Given the description of an element on the screen output the (x, y) to click on. 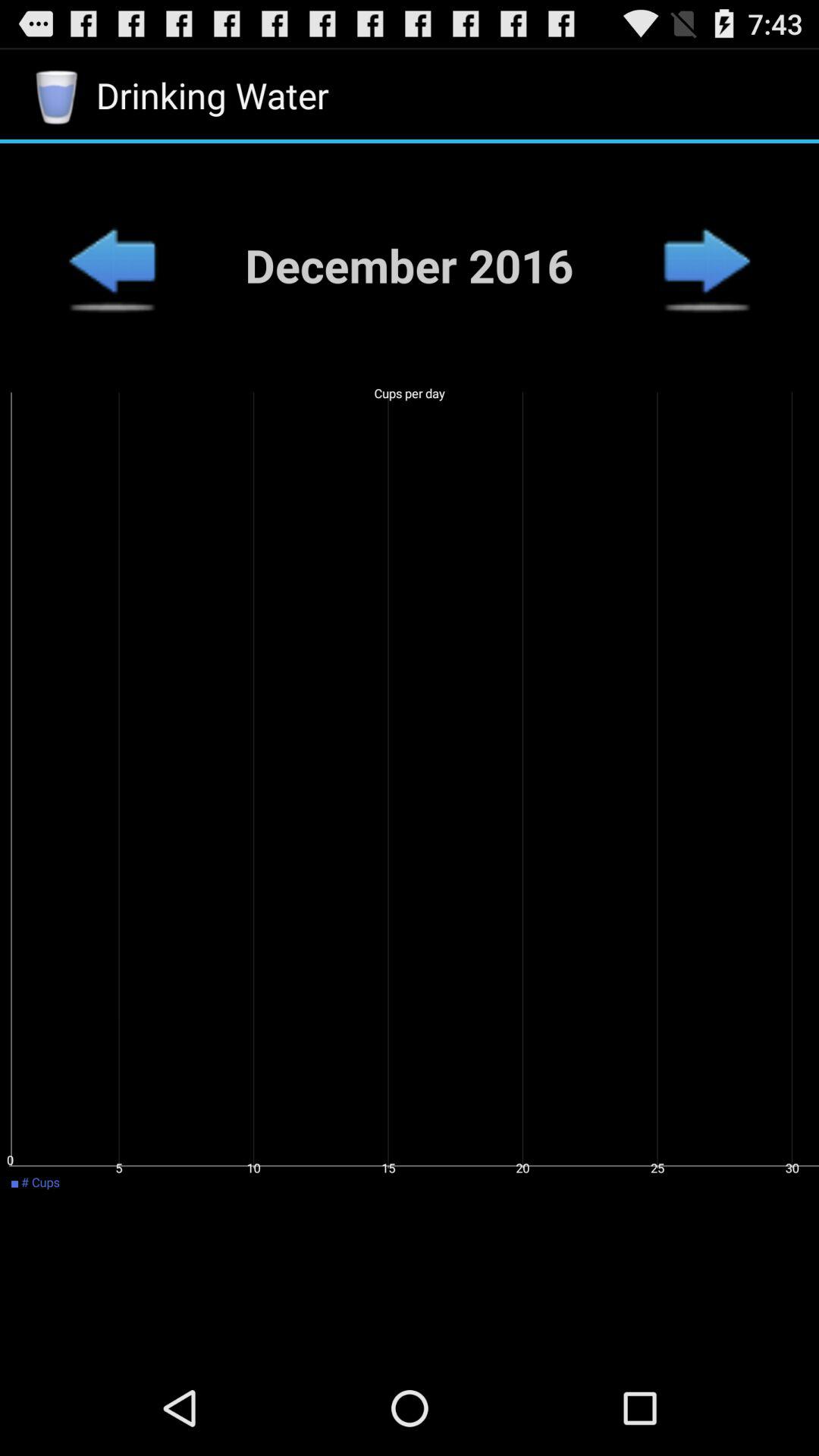
go back (111, 264)
